Given the description of an element on the screen output the (x, y) to click on. 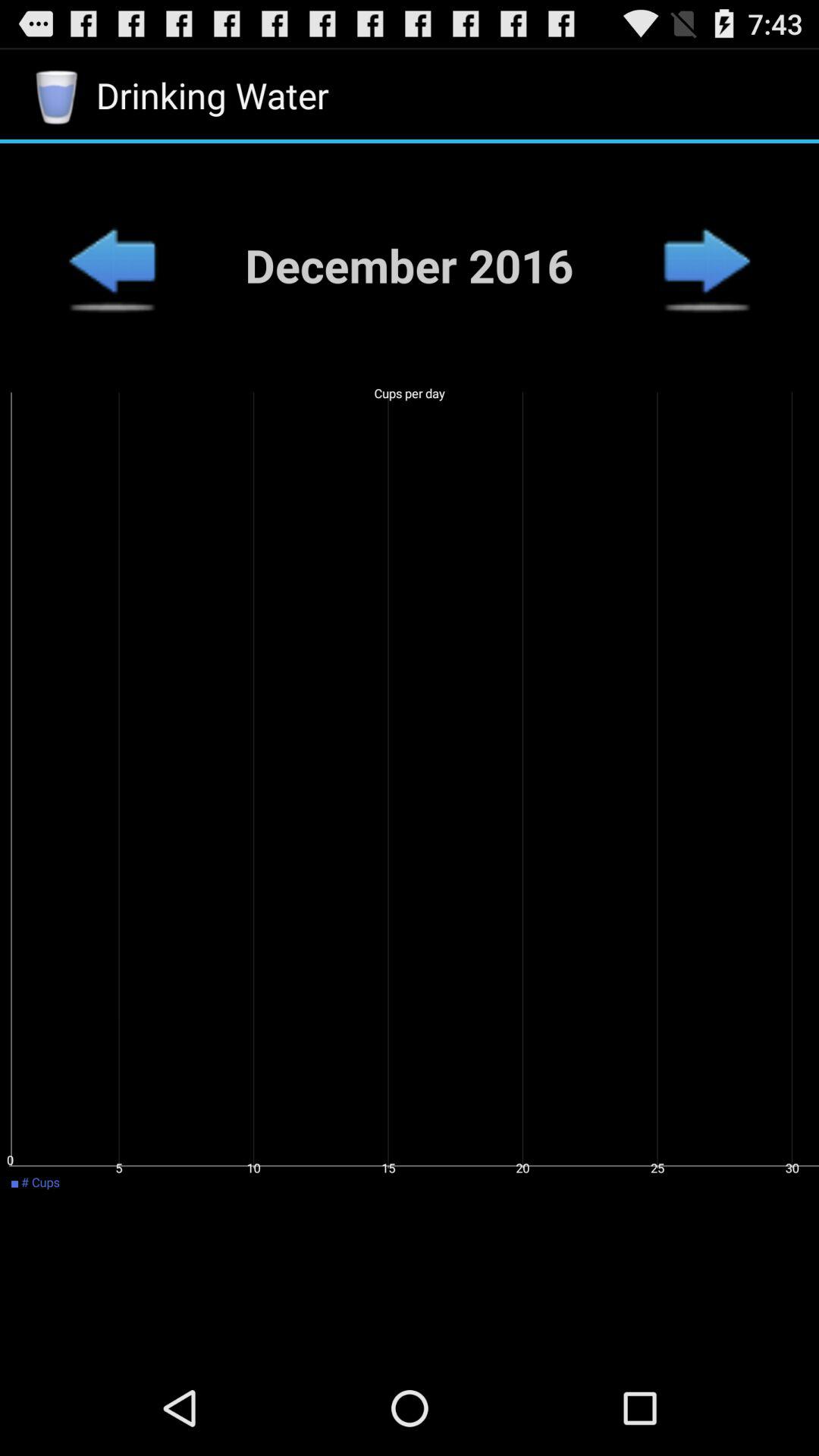
go back (111, 264)
